Given the description of an element on the screen output the (x, y) to click on. 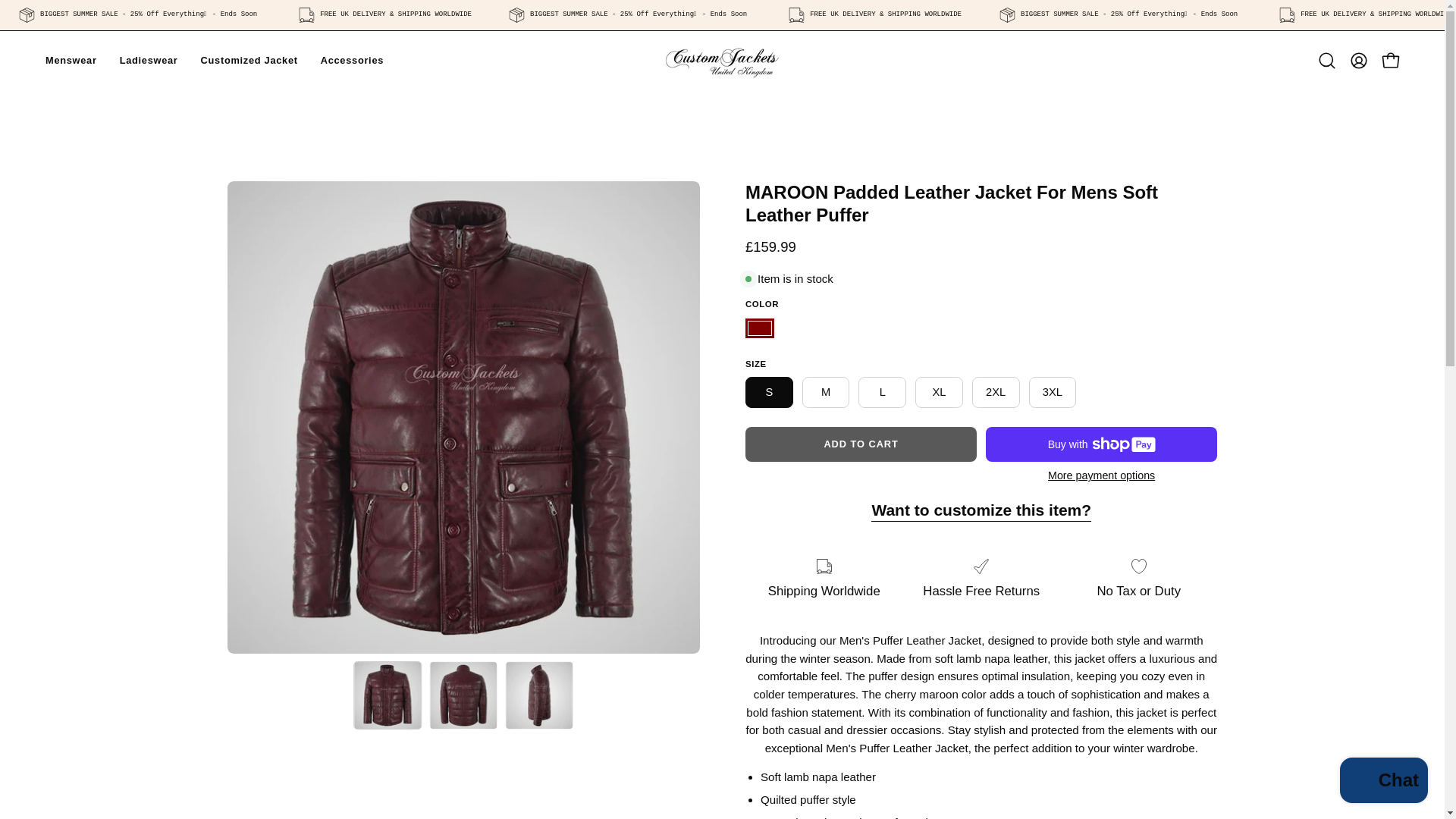
Open search bar (1326, 60)
